Given the description of an element on the screen output the (x, y) to click on. 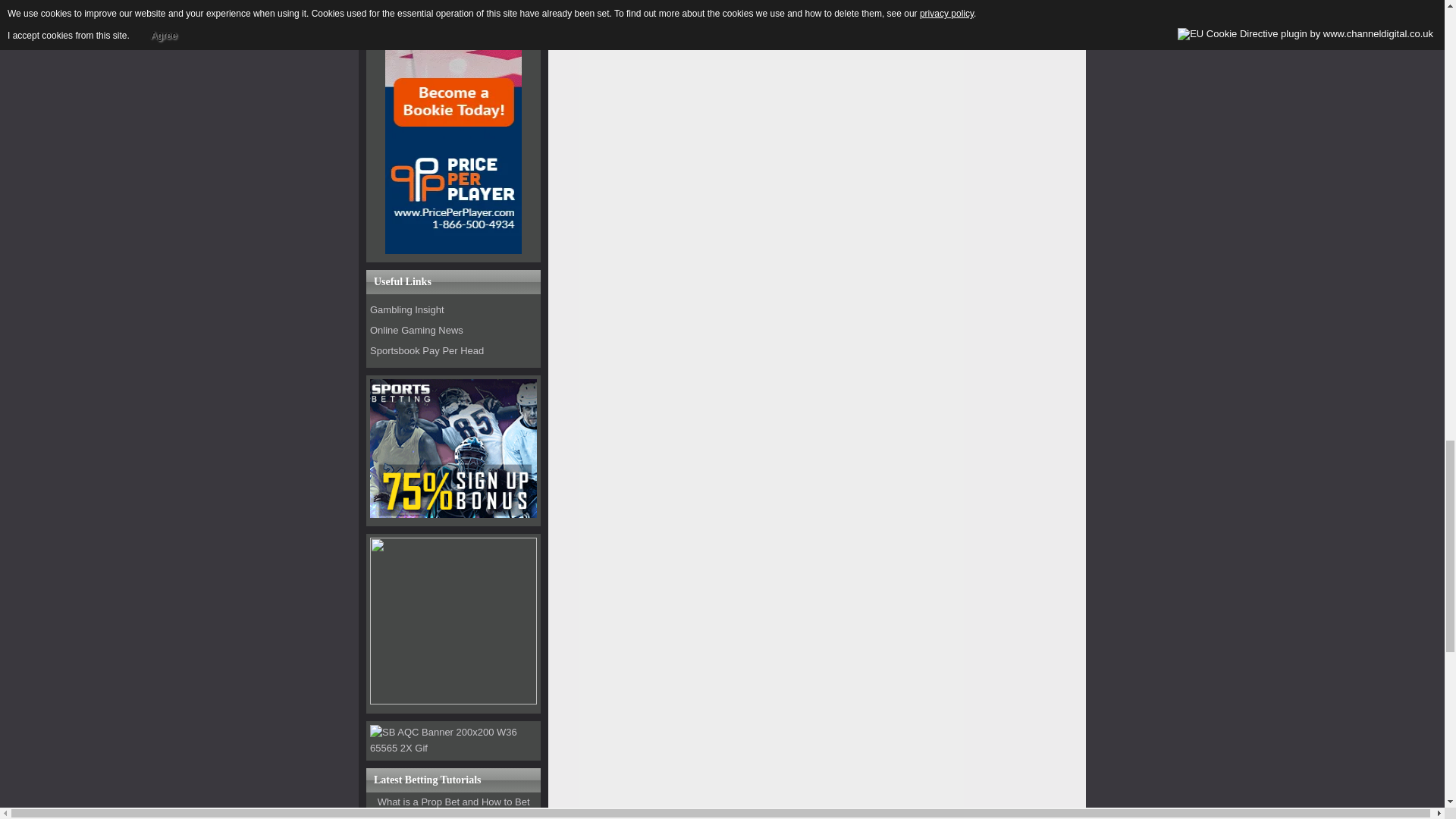
Sportsbook Pay Per Head (426, 350)
sportsbetting.ag (453, 514)
Gambling Insight (406, 309)
Online Gaming News (416, 329)
